Given the description of an element on the screen output the (x, y) to click on. 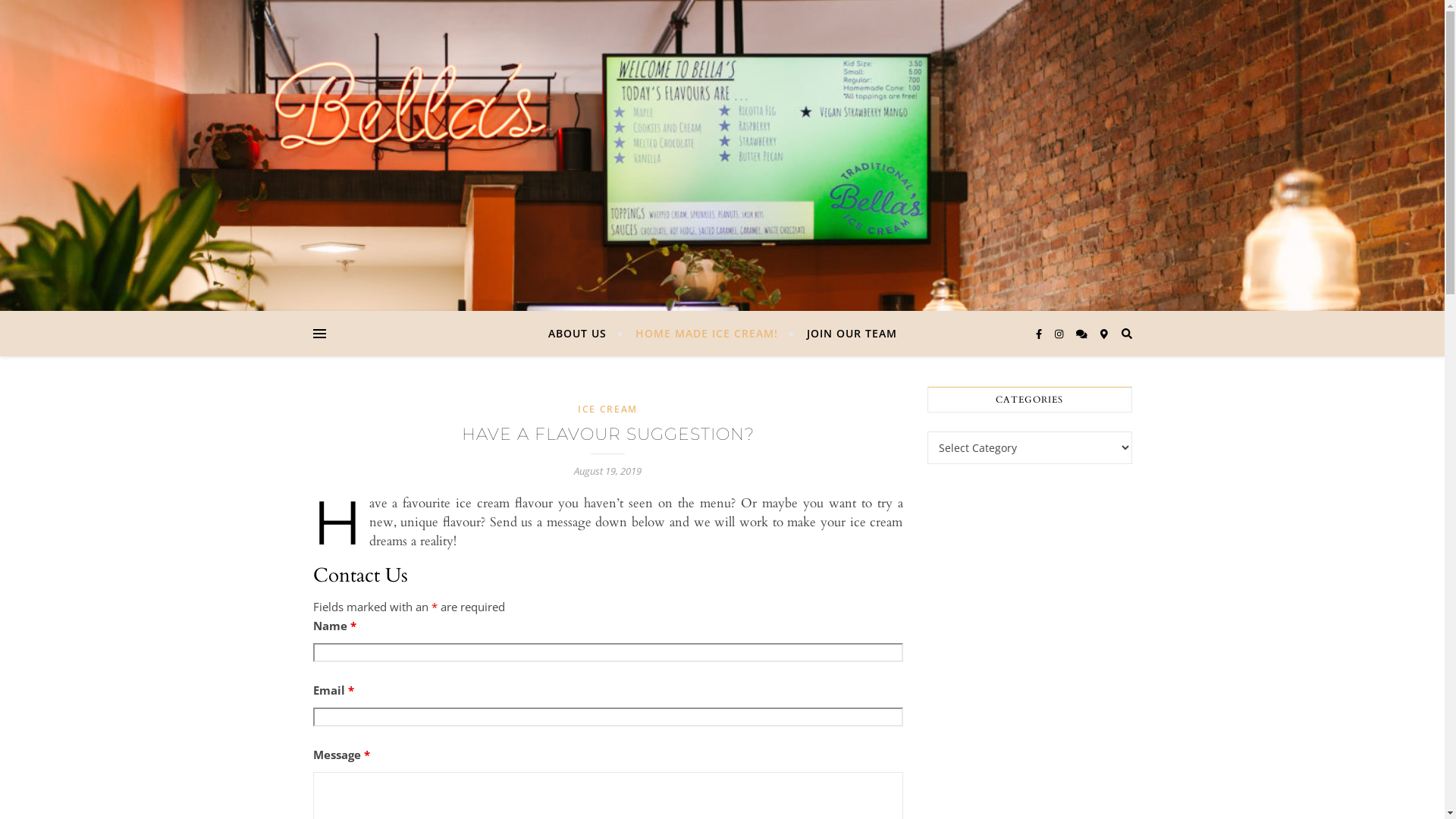
Bella's Traditional Ice Cream Element type: hover (722, 155)
HOME MADE ICE CREAM! Element type: text (705, 333)
ABOUT US Element type: text (582, 333)
JOIN OUR TEAM Element type: text (844, 333)
ICE CREAM Element type: text (607, 408)
